Given the description of an element on the screen output the (x, y) to click on. 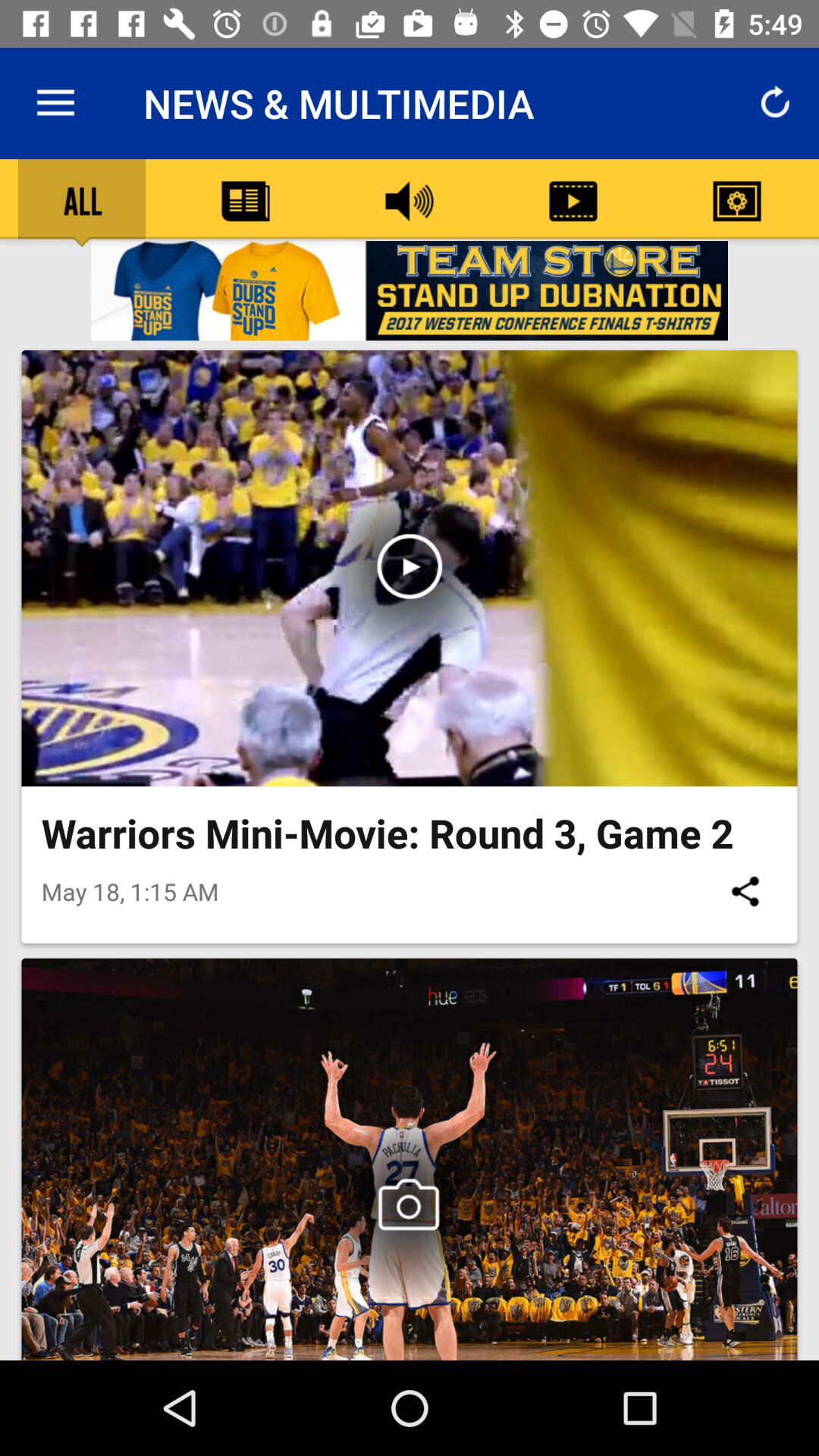
open item next to news & multimedia icon (55, 103)
